Given the description of an element on the screen output the (x, y) to click on. 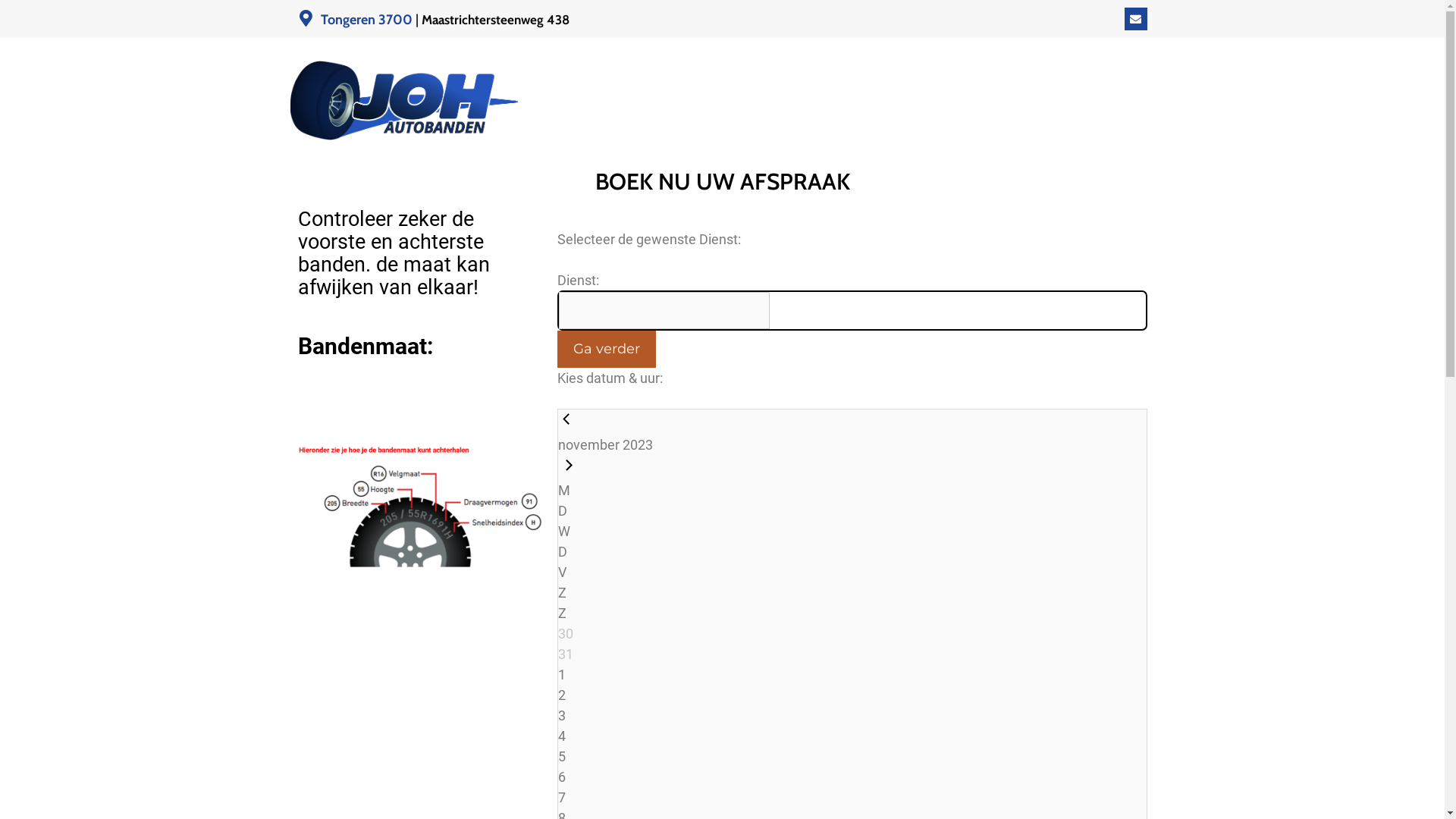
Ga verder Element type: text (605, 348)
